Given the description of an element on the screen output the (x, y) to click on. 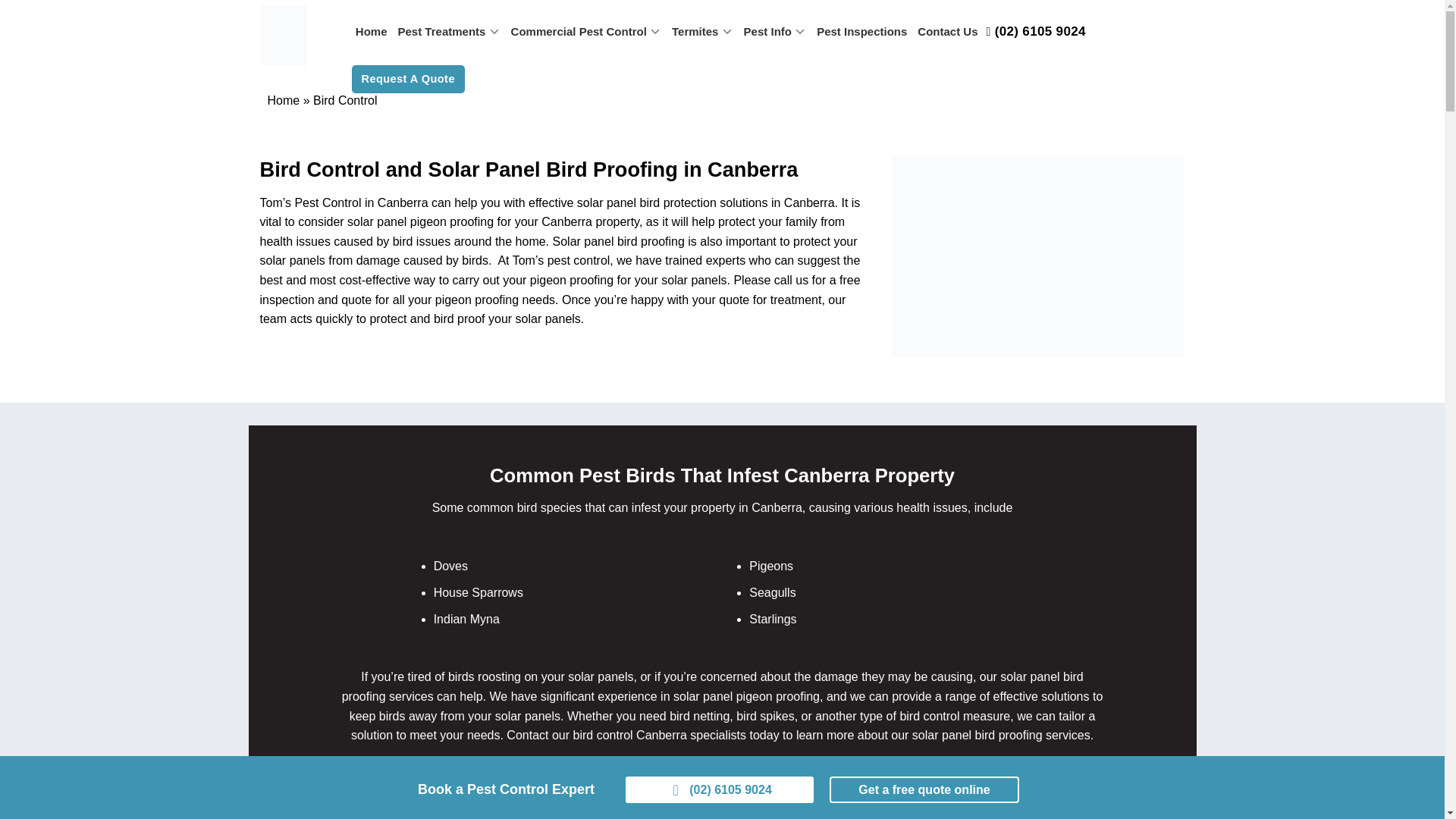
Book Online (924, 789)
Home (371, 31)
Termites (702, 31)
Pest Treatments (448, 31)
Commercial Pest Control (585, 31)
call (718, 789)
